Given the description of an element on the screen output the (x, y) to click on. 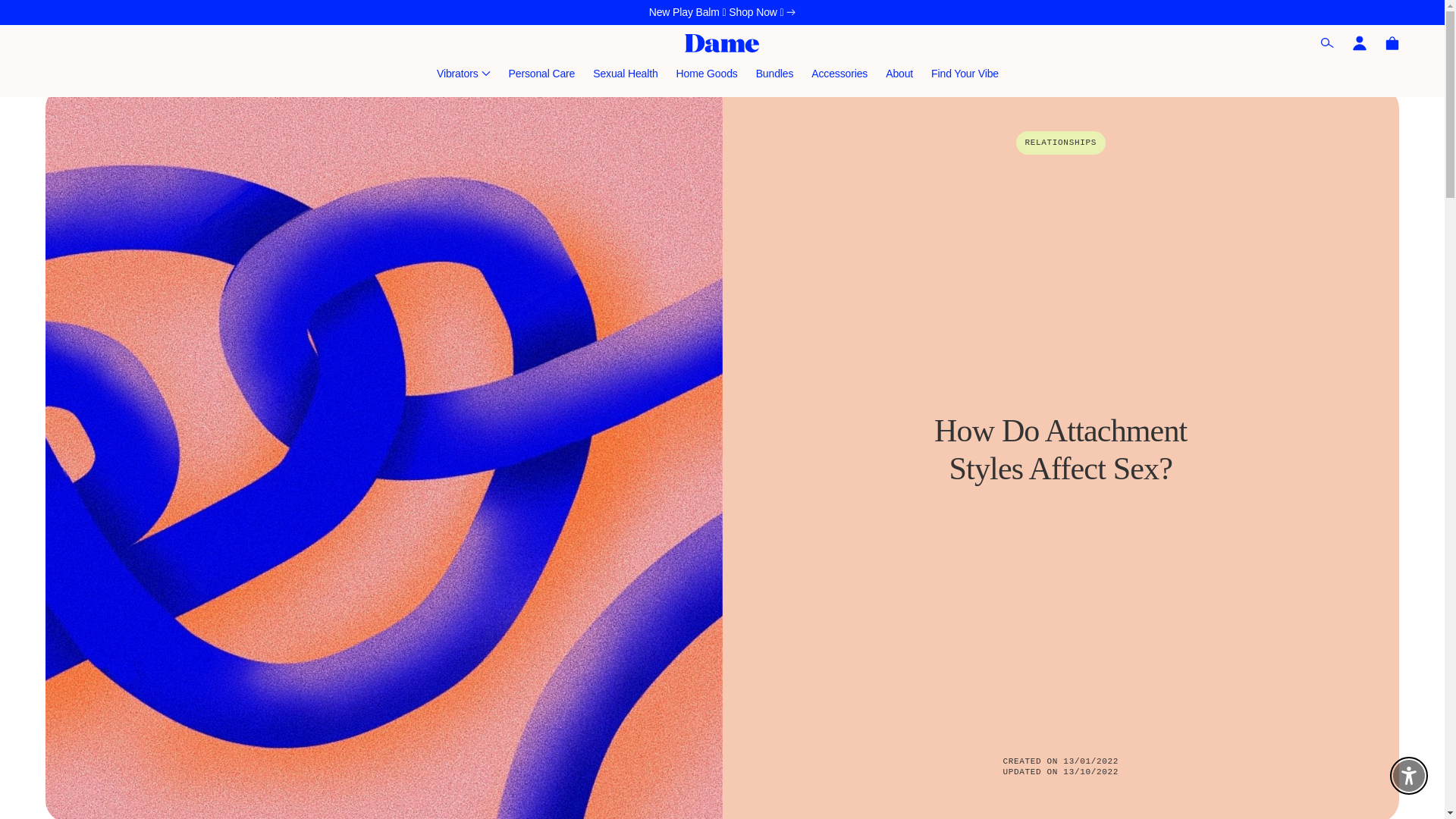
Log in (1359, 42)
Go to homepage (722, 43)
